Given the description of an element on the screen output the (x, y) to click on. 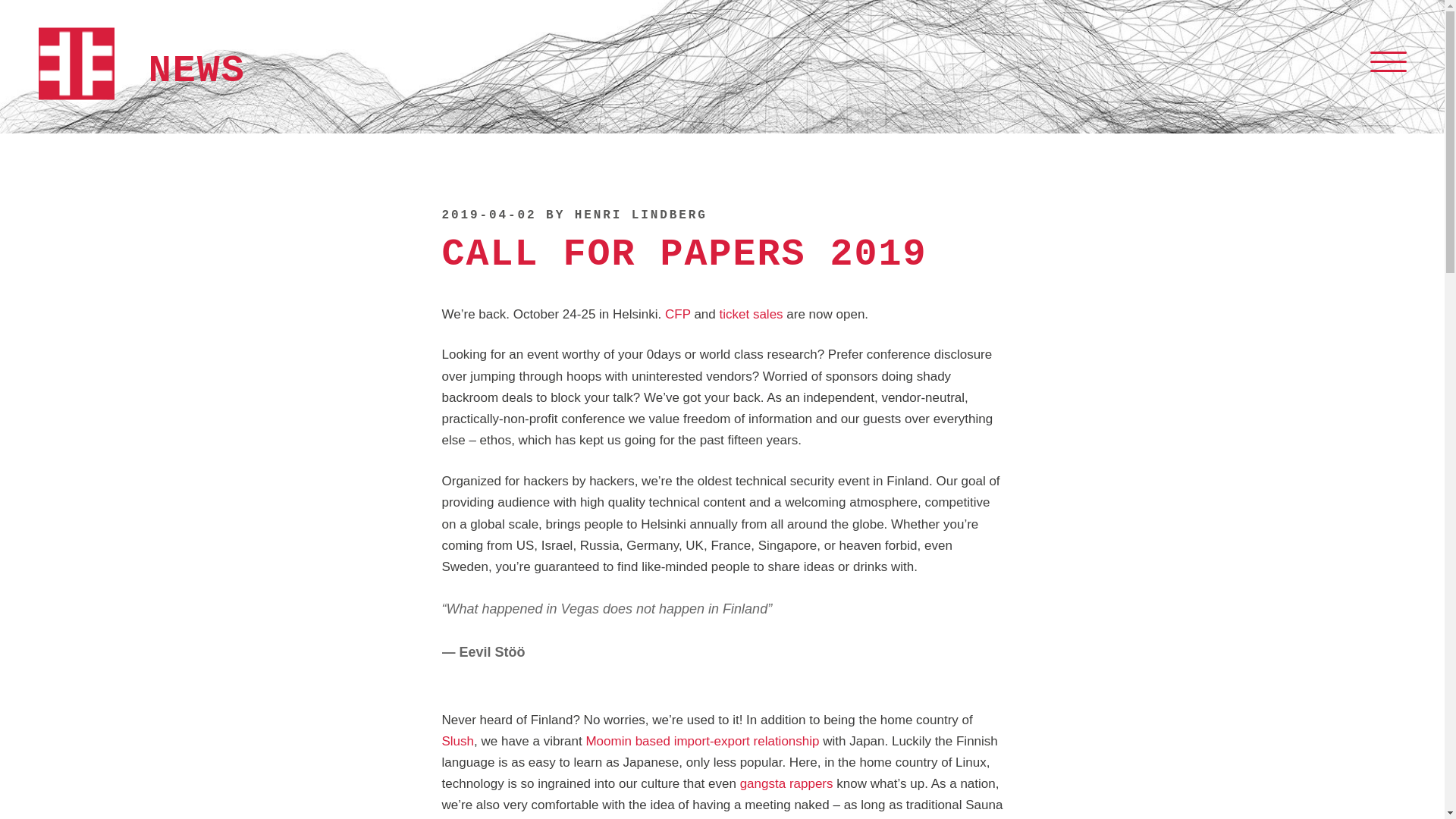
gangsta (762, 783)
rappers (810, 783)
2019-04-02 (488, 214)
Moomin based import-export relationship (701, 740)
ticket sales (751, 314)
HENRI LINDBERG (641, 214)
Slush (457, 740)
CFP (677, 314)
